Given the description of an element on the screen output the (x, y) to click on. 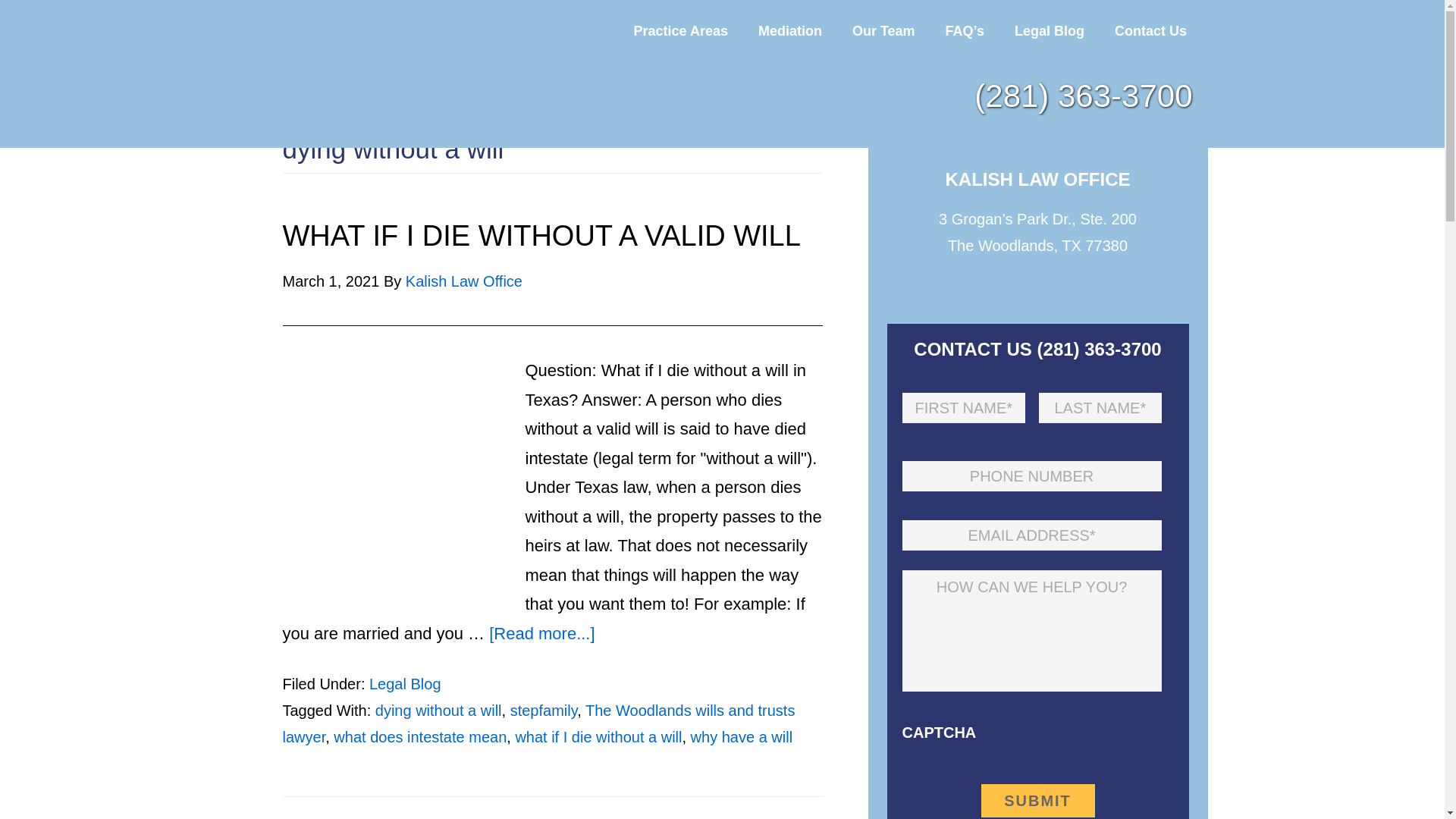
Legal Blog (1048, 30)
Submit (1037, 800)
Practice Areas (680, 30)
Our Team (883, 30)
Mediation (789, 30)
KALISH LAW TEXAS (387, 73)
